Given the description of an element on the screen output the (x, y) to click on. 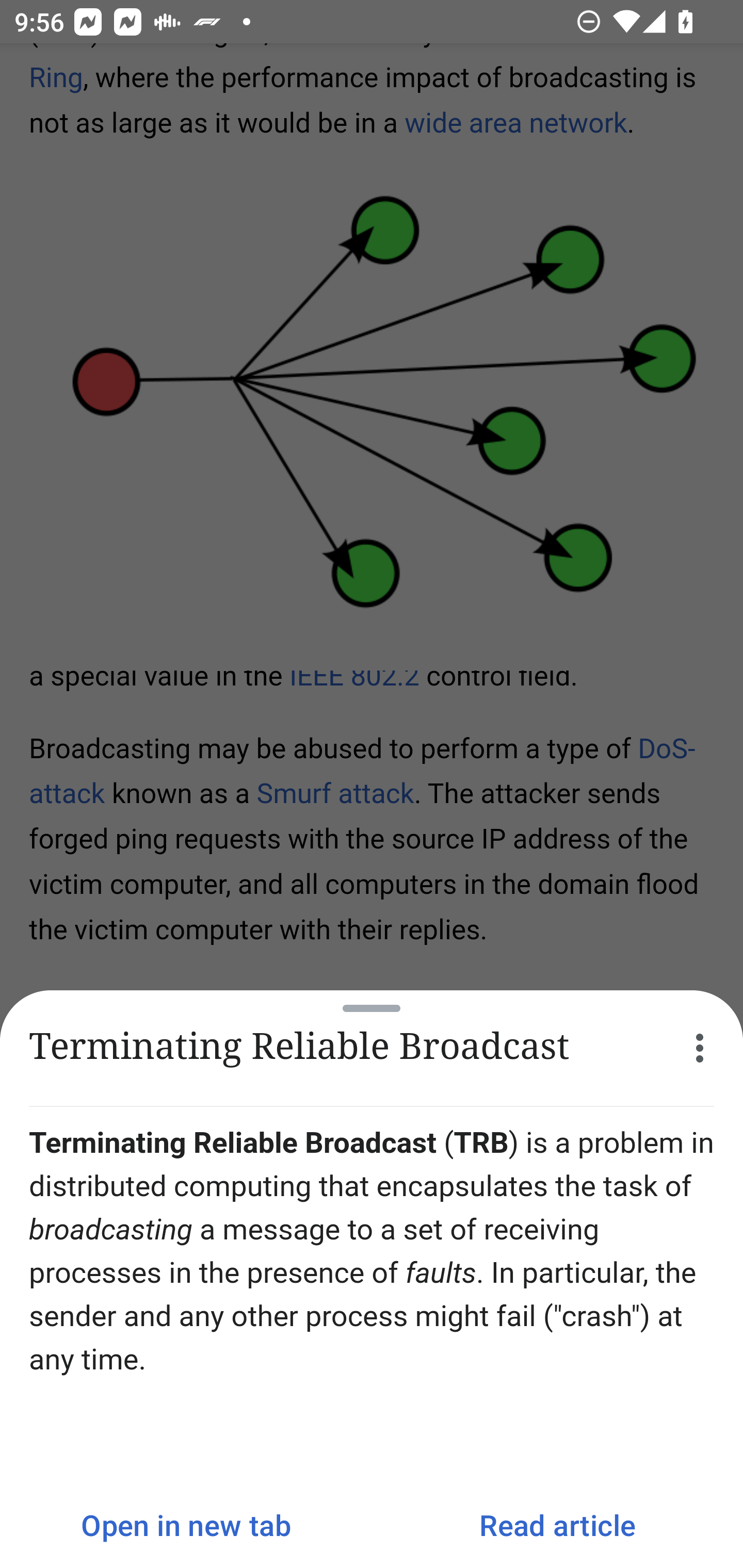
Terminating Reliable Broadcast More options (371, 1047)
More options (699, 1048)
Open in new tab (185, 1524)
Read article (557, 1524)
